Given the description of an element on the screen output the (x, y) to click on. 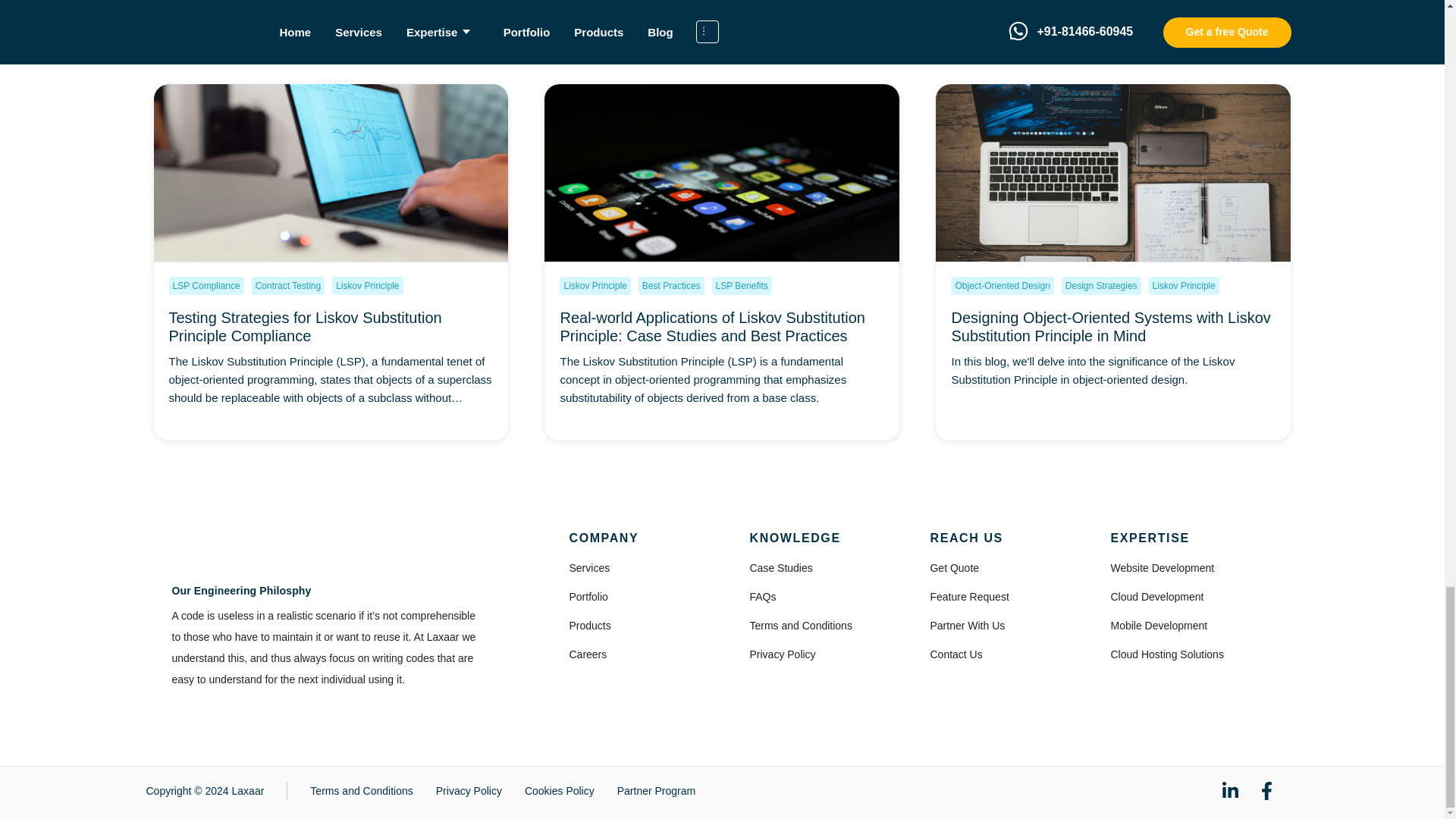
Partner With Us (967, 625)
Privacy Policy (782, 654)
Terms and Conditions (800, 625)
Careers (588, 654)
Contact Us (955, 654)
Cloud Development (1156, 596)
Cloud Hosting Solutions (1166, 654)
Website Development (1161, 567)
Feature Request (969, 596)
